Given the description of an element on the screen output the (x, y) to click on. 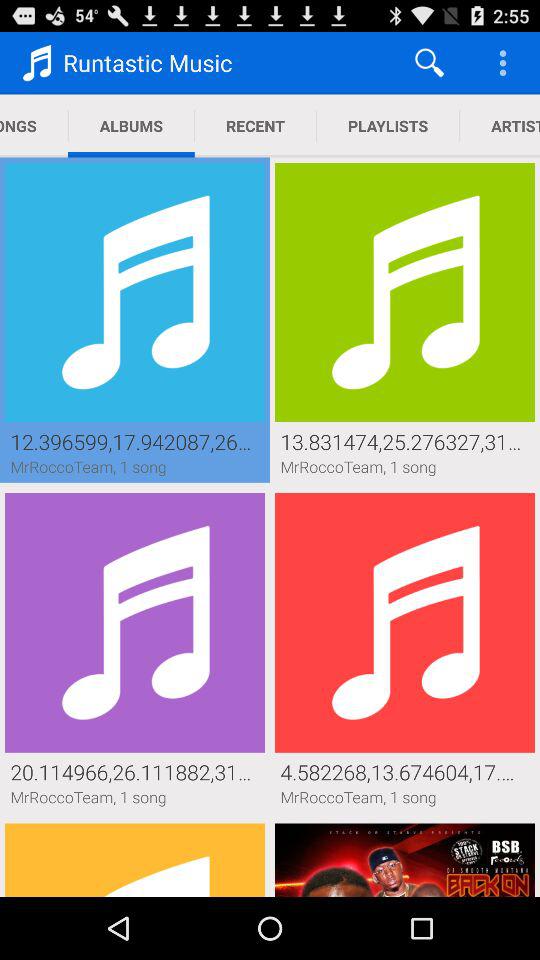
choose icon to the right of the recent item (387, 125)
